Given the description of an element on the screen output the (x, y) to click on. 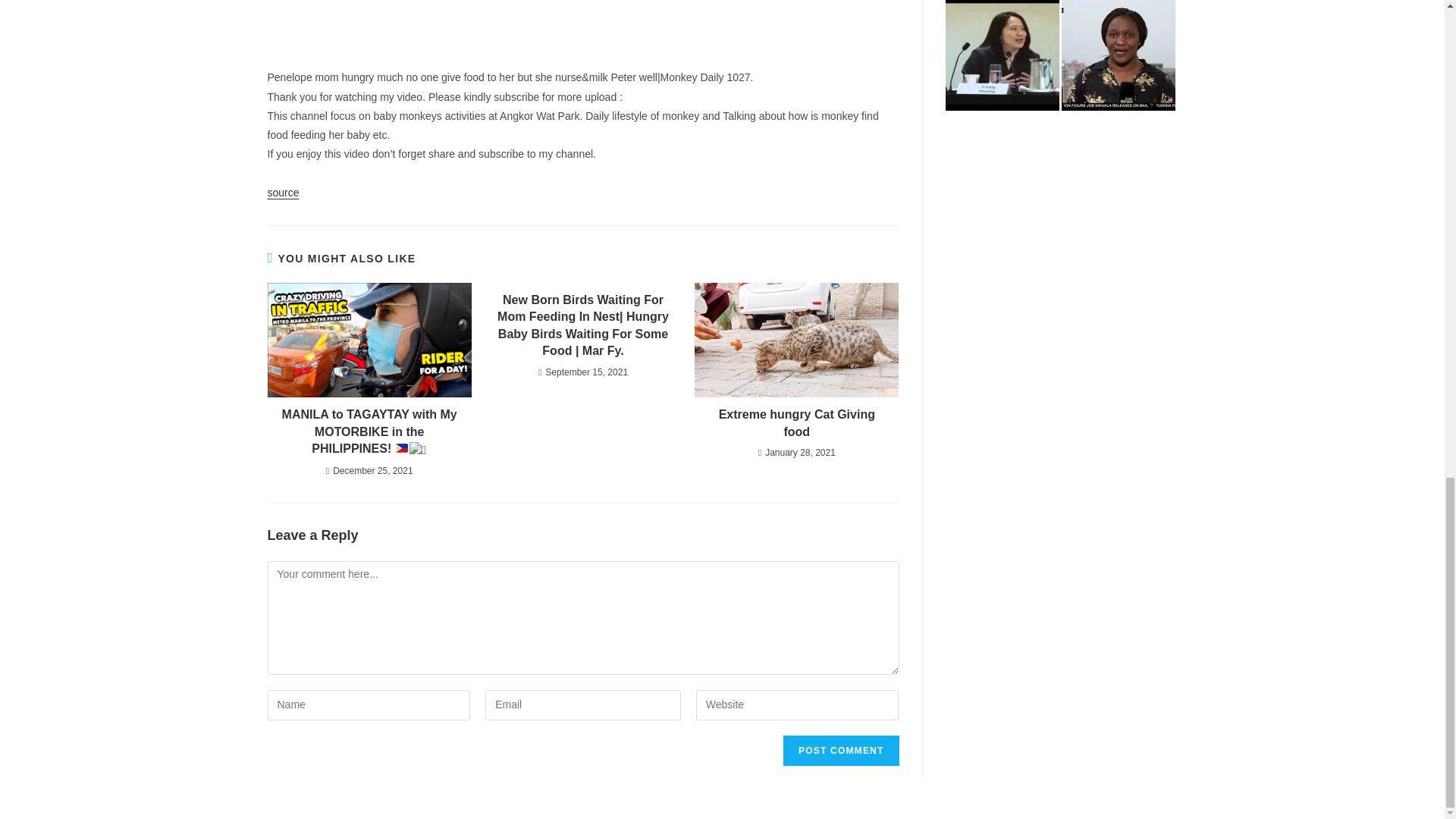
Extreme hungry Cat Giving food (796, 423)
Post Comment (840, 750)
source (282, 192)
MANILA to TAGAYTAY with My MOTORBIKE in the PHILIPPINES! (368, 432)
Post Comment (840, 750)
